Given the description of an element on the screen output the (x, y) to click on. 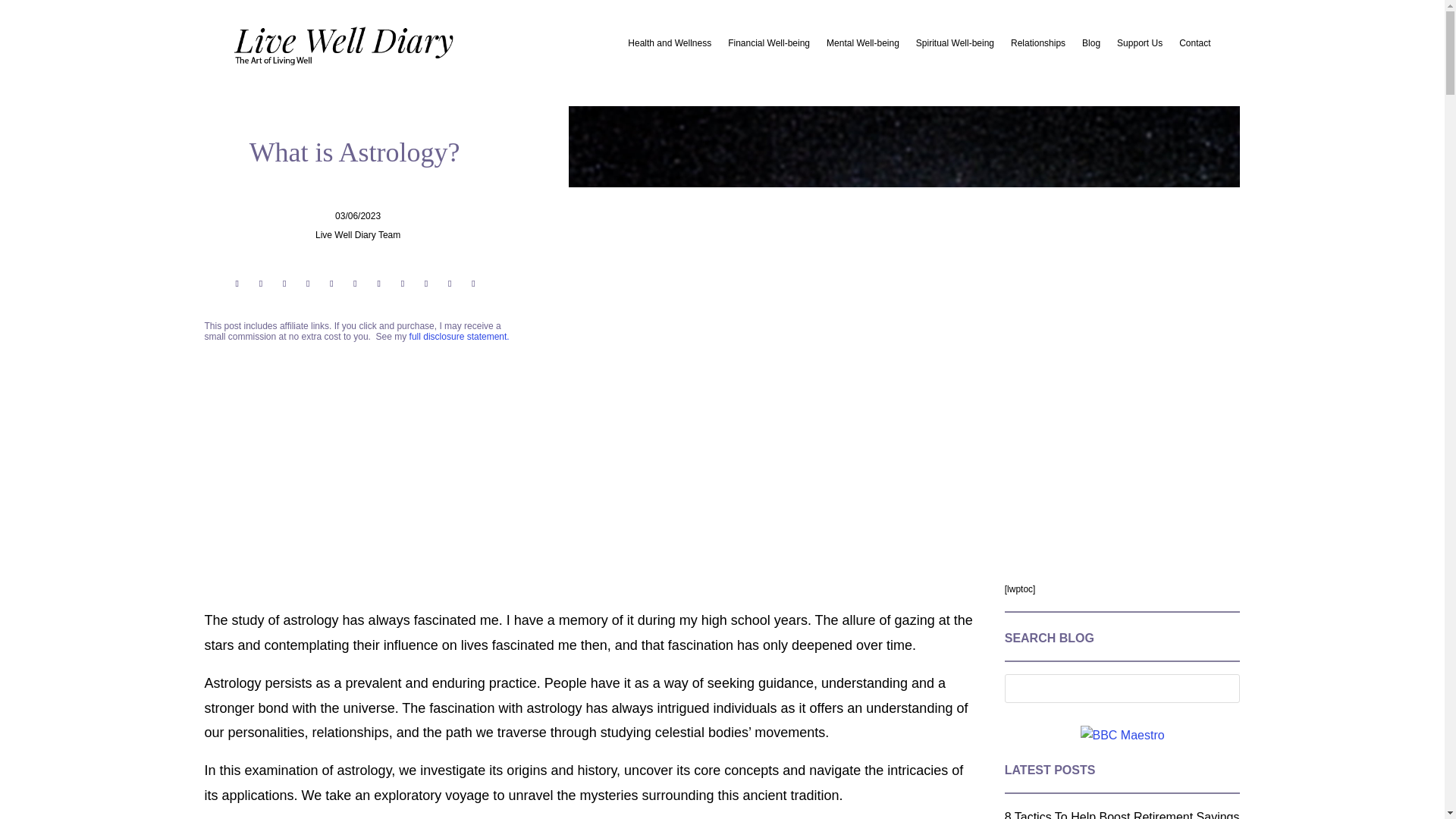
Financial Well-being (768, 45)
Mental Well-being (863, 45)
8 Tactics To Help Boost Retirement Savings (1122, 814)
Spiritual Well-being (954, 45)
Support Us (1138, 45)
live well Diary logo (354, 45)
Blog (1090, 45)
Search (24, 13)
Relationships (1037, 45)
